Given the description of an element on the screen output the (x, y) to click on. 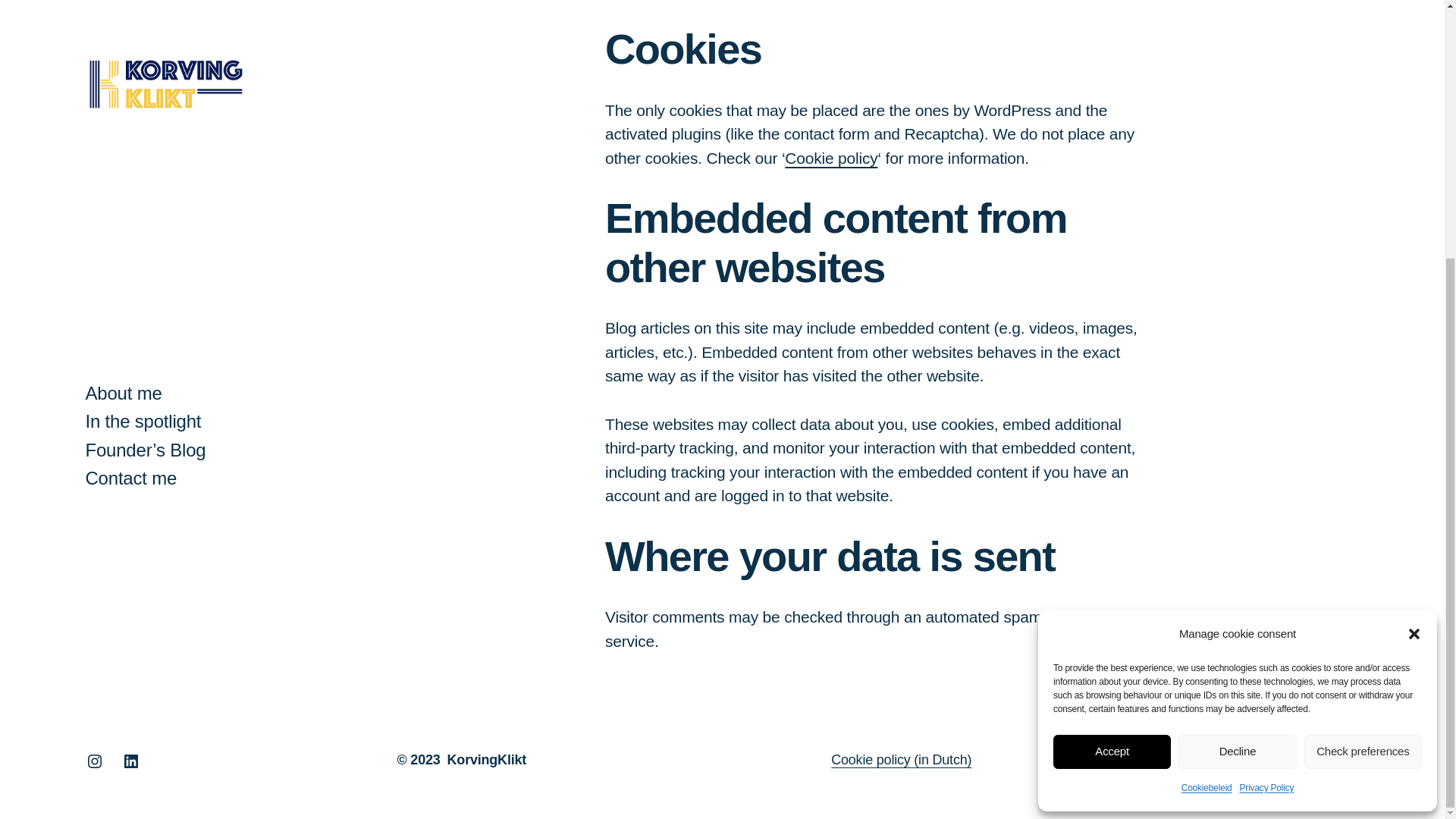
Privacy Policy (1317, 759)
Privacy Policy (1267, 419)
Instagram (93, 393)
Accept (1111, 382)
Contact me (130, 109)
KorvingKlikt (486, 759)
In the spotlight (142, 52)
LinkedIn (129, 393)
Decline (1236, 382)
About me (122, 24)
Cookiebeleid (1205, 419)
Check preferences (1363, 382)
Cookie policy (830, 158)
